Given the description of an element on the screen output the (x, y) to click on. 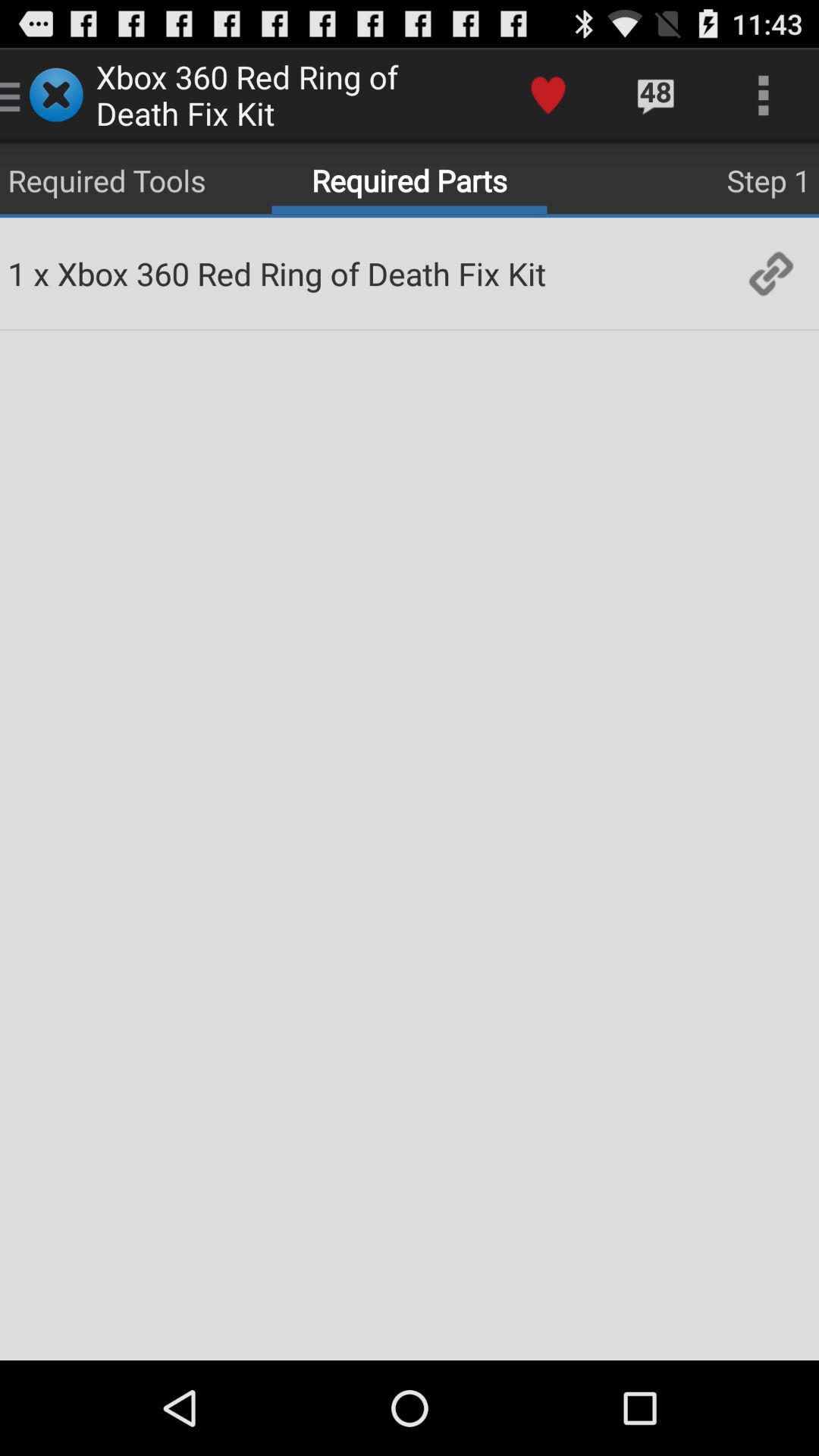
select app to the right of the xbox 360 red item (548, 95)
